Given the description of an element on the screen output the (x, y) to click on. 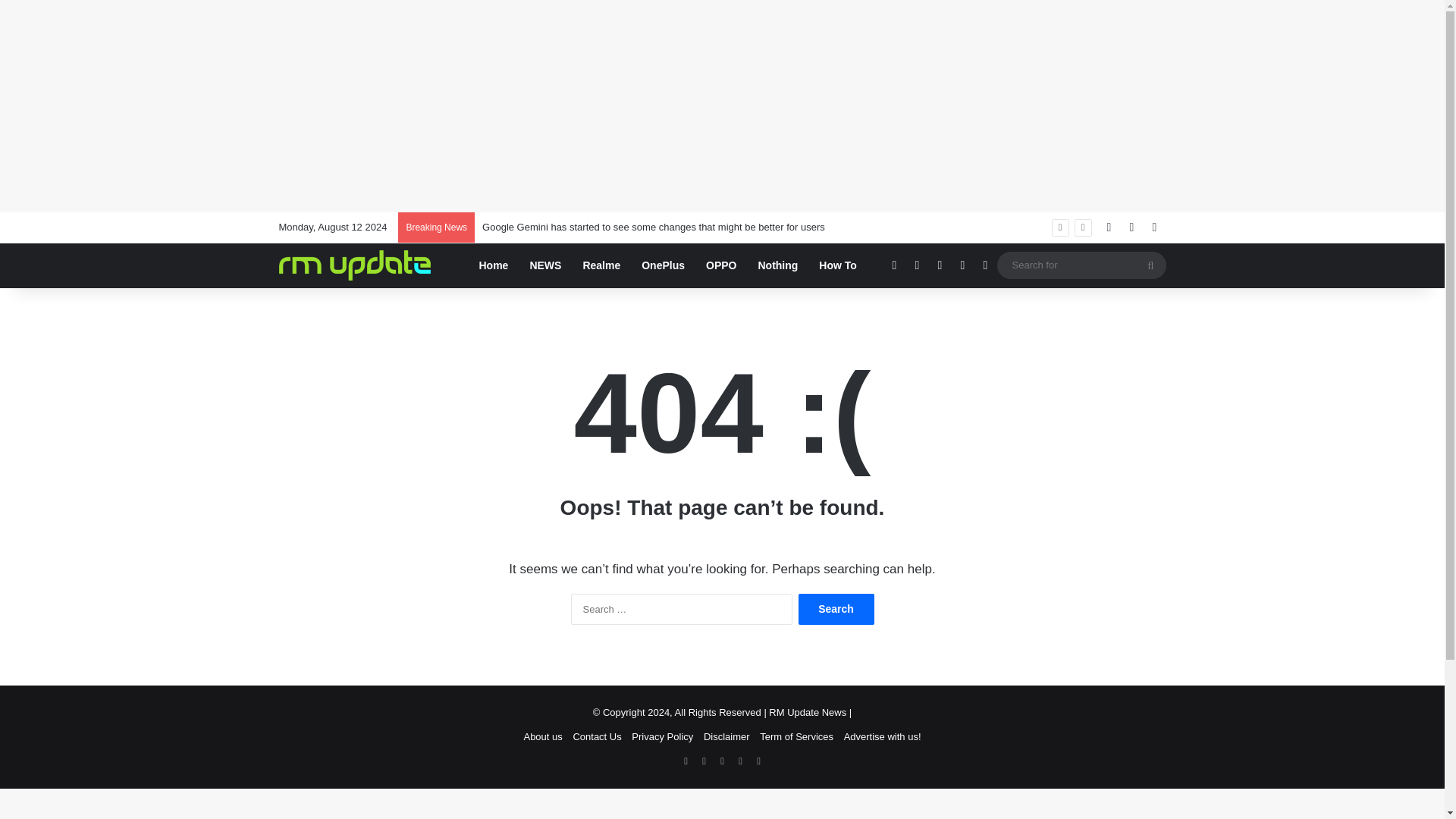
Advertise with us! (882, 736)
RM Update News (354, 265)
YouTube (721, 761)
Term of Services (796, 736)
NEWS (545, 265)
Search (835, 608)
Search (835, 608)
Nothing (777, 265)
OnePlus (662, 265)
